Given the description of an element on the screen output the (x, y) to click on. 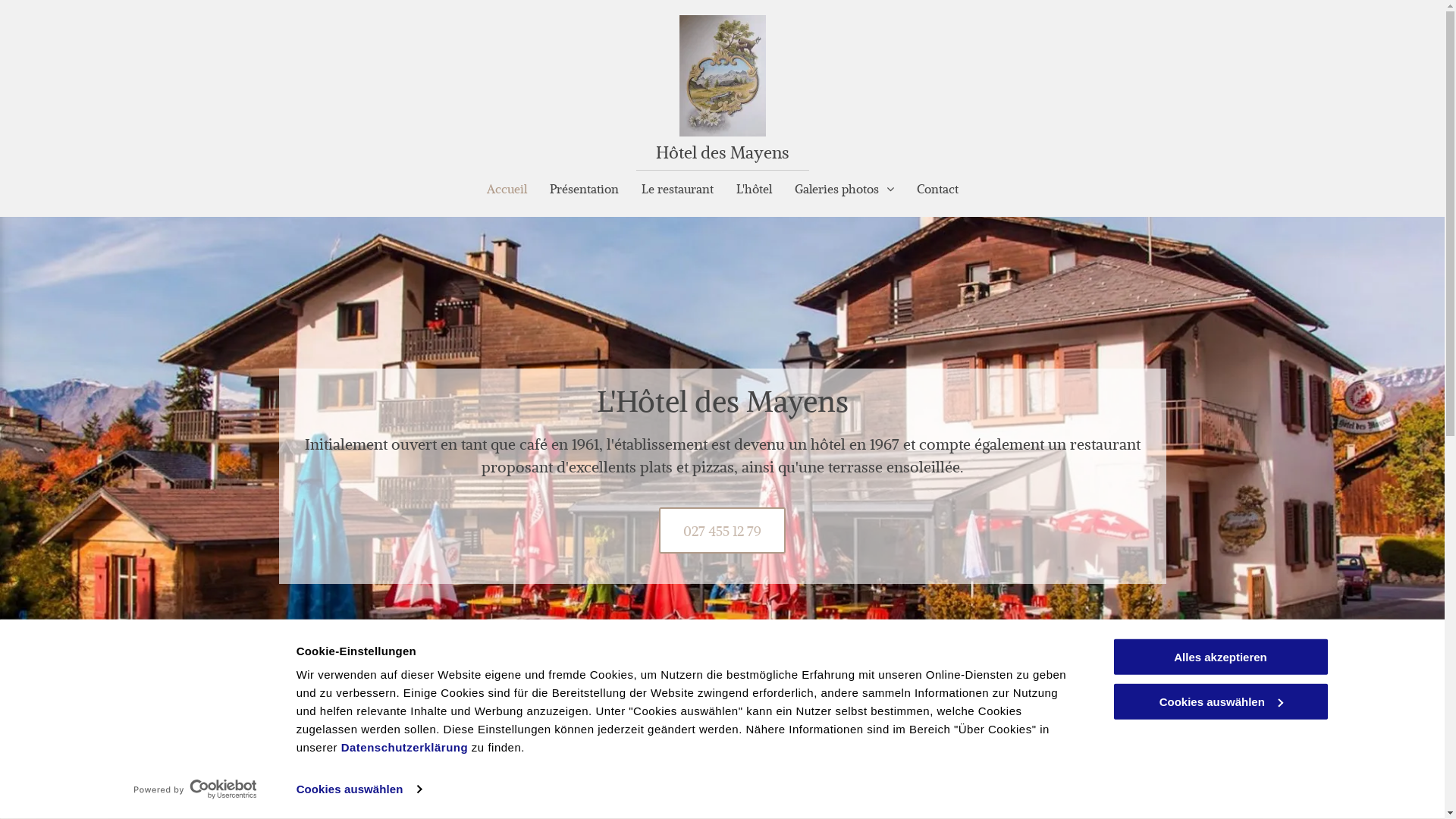
Contact Element type: text (937, 190)
Le restaurant Element type: text (676, 190)
Galeries photos Element type: text (843, 190)
027 455 12 79 Element type: text (721, 530)
Alles akzeptieren Element type: text (1219, 656)
Accueil Element type: text (505, 190)
